Given the description of an element on the screen output the (x, y) to click on. 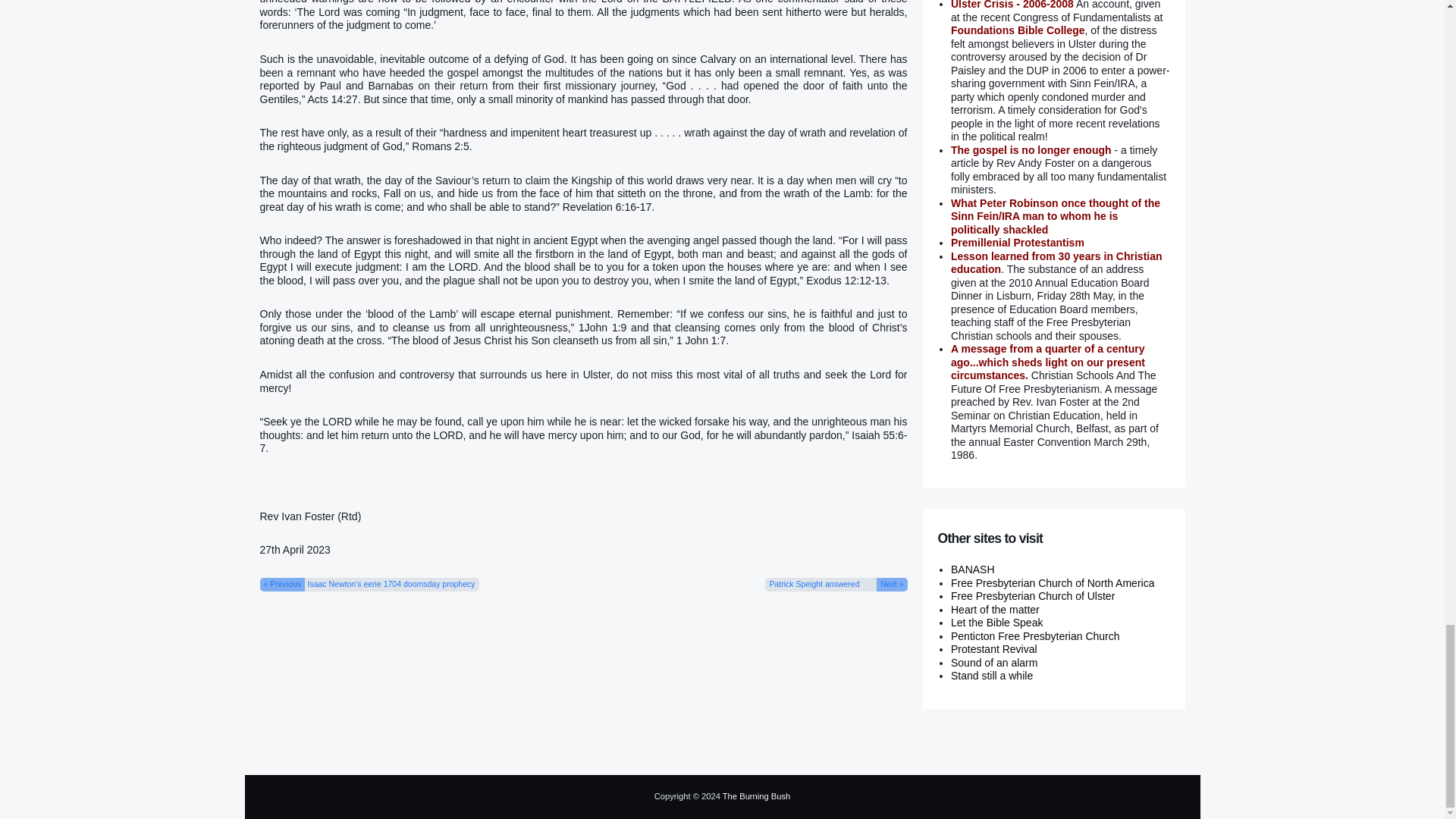
Foundations Bible College (1017, 30)
Personal blog of Rev. Andy Foster (991, 675)
Premillenial Protestantism (1017, 242)
Penticton FPC website (1034, 635)
The gospel is no longer enough (1031, 150)
LTBS radio ministry (996, 622)
BANASH (972, 569)
Personal blog of Rev. Brian McClung (993, 662)
Ministry of Rev. Ralph Ovadal (994, 609)
FPCoU website (1032, 595)
Ulster Crisis - 2006-2008 (1012, 4)
Lesson learned from 30 years in Christian education (1055, 263)
Believers Alerted to New Ageism and Secular Humanism (972, 569)
